Given the description of an element on the screen output the (x, y) to click on. 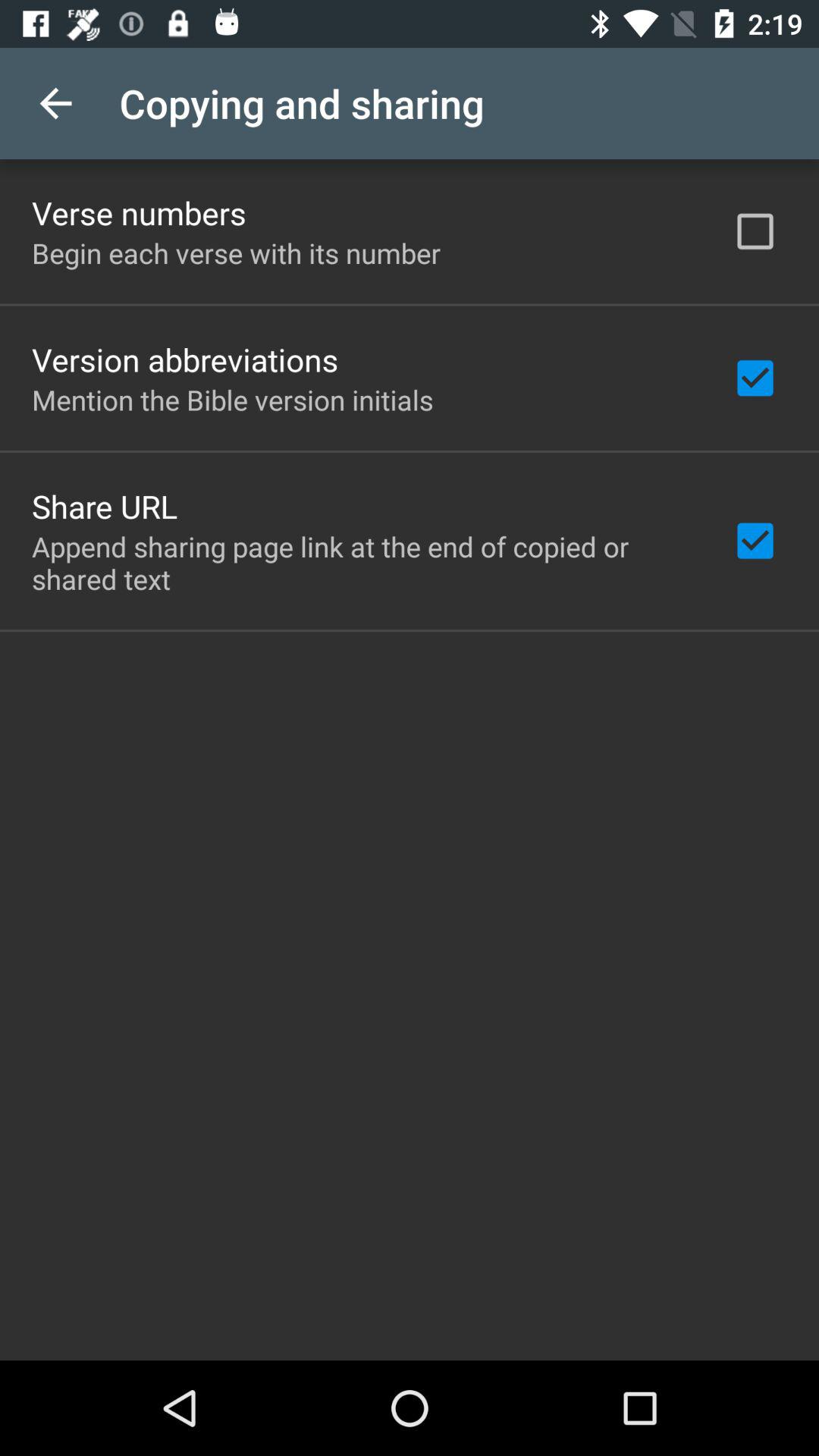
flip until version abbreviations item (184, 359)
